Given the description of an element on the screen output the (x, y) to click on. 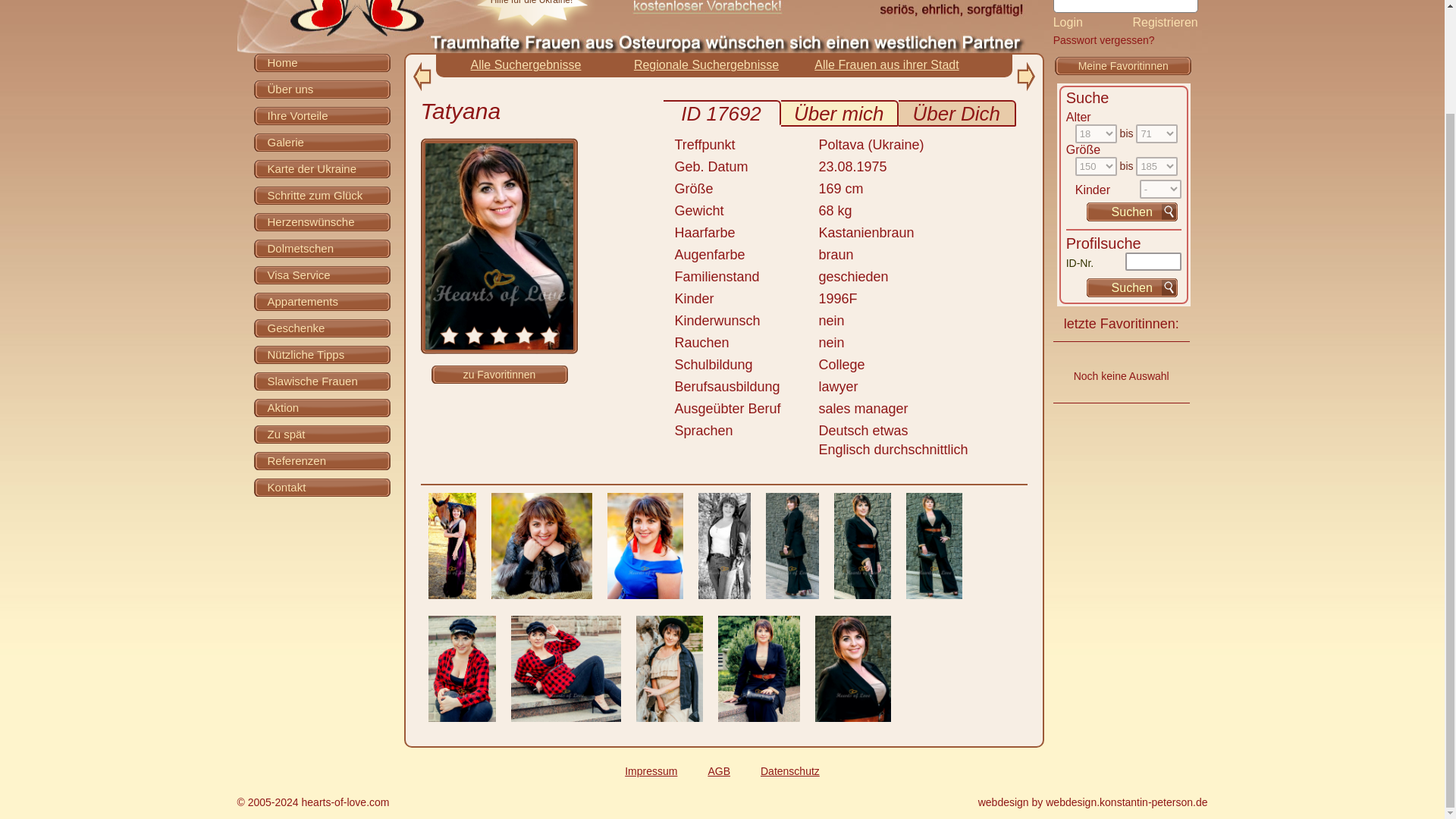
Suchen (1131, 287)
Aktion (321, 407)
ID 17692 (721, 113)
Appartements (321, 301)
Meine Favoritinnen (1123, 65)
Geschenke (321, 327)
Registrieren (1164, 22)
Suchen (1131, 211)
Regionale Suchergebnisse (705, 64)
Galerie (699, 6)
Kontakt (321, 141)
Login (321, 486)
Referenzen (1067, 22)
zu Favoritinnen (321, 460)
